Given the description of an element on the screen output the (x, y) to click on. 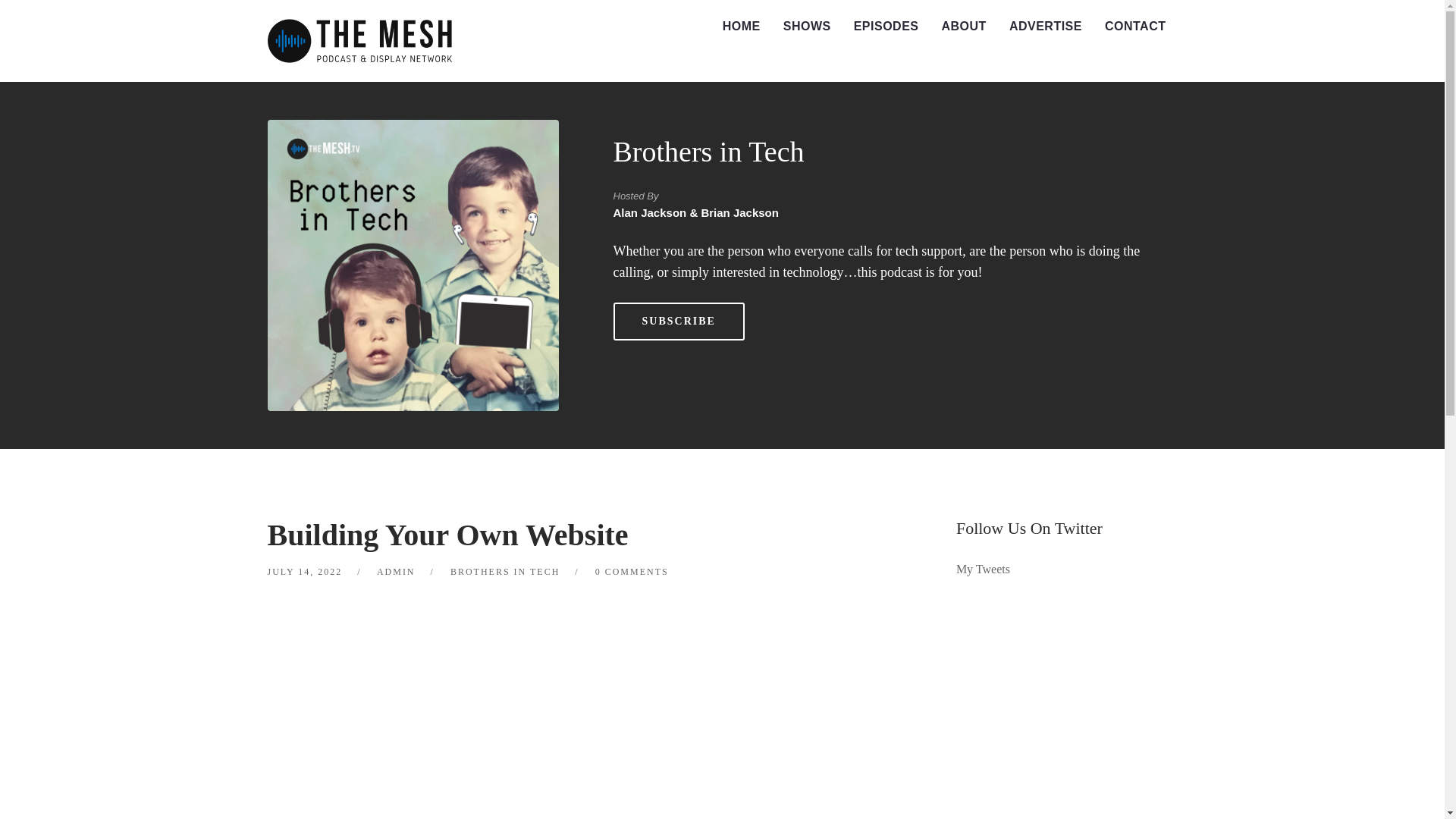
EPISODES (886, 26)
My Tweets (983, 568)
SUBSCRIBE (678, 321)
HOME (741, 26)
SHOWS (807, 26)
ADVERTISE (1045, 26)
Brothers in Tech (707, 151)
The MESH (358, 40)
ADMIN (395, 571)
CONTACT (1135, 26)
